Given the description of an element on the screen output the (x, y) to click on. 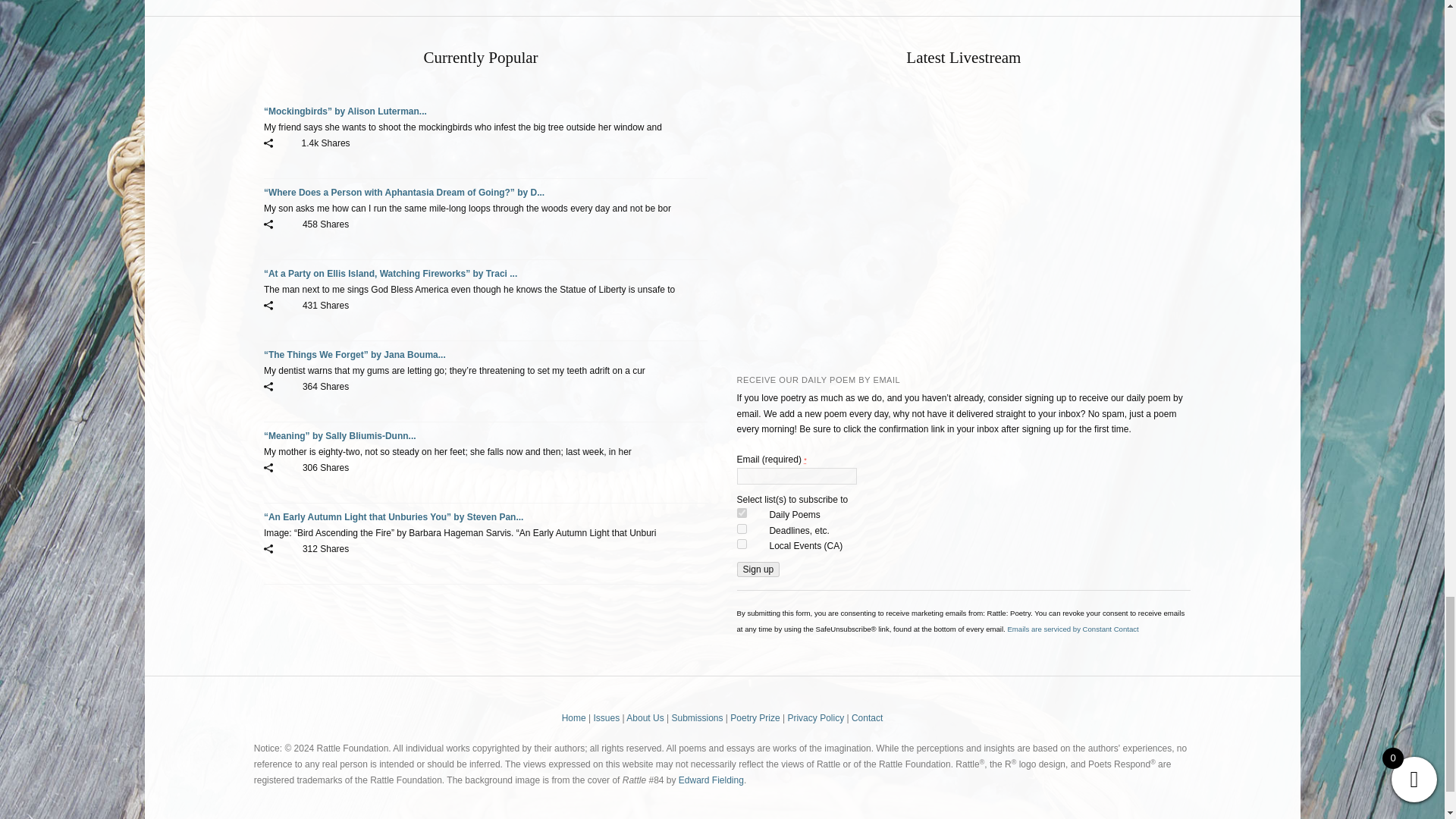
4e5a6cbe-05f2-11ec-b6e9-fa163e37a129 (741, 543)
Sign up (758, 569)
576b39e4-c328-11eb-9470-fa163efab12a (741, 512)
986a7eba-a7a1-11ec-8f32-fa163e732e35 (741, 528)
